Given the description of an element on the screen output the (x, y) to click on. 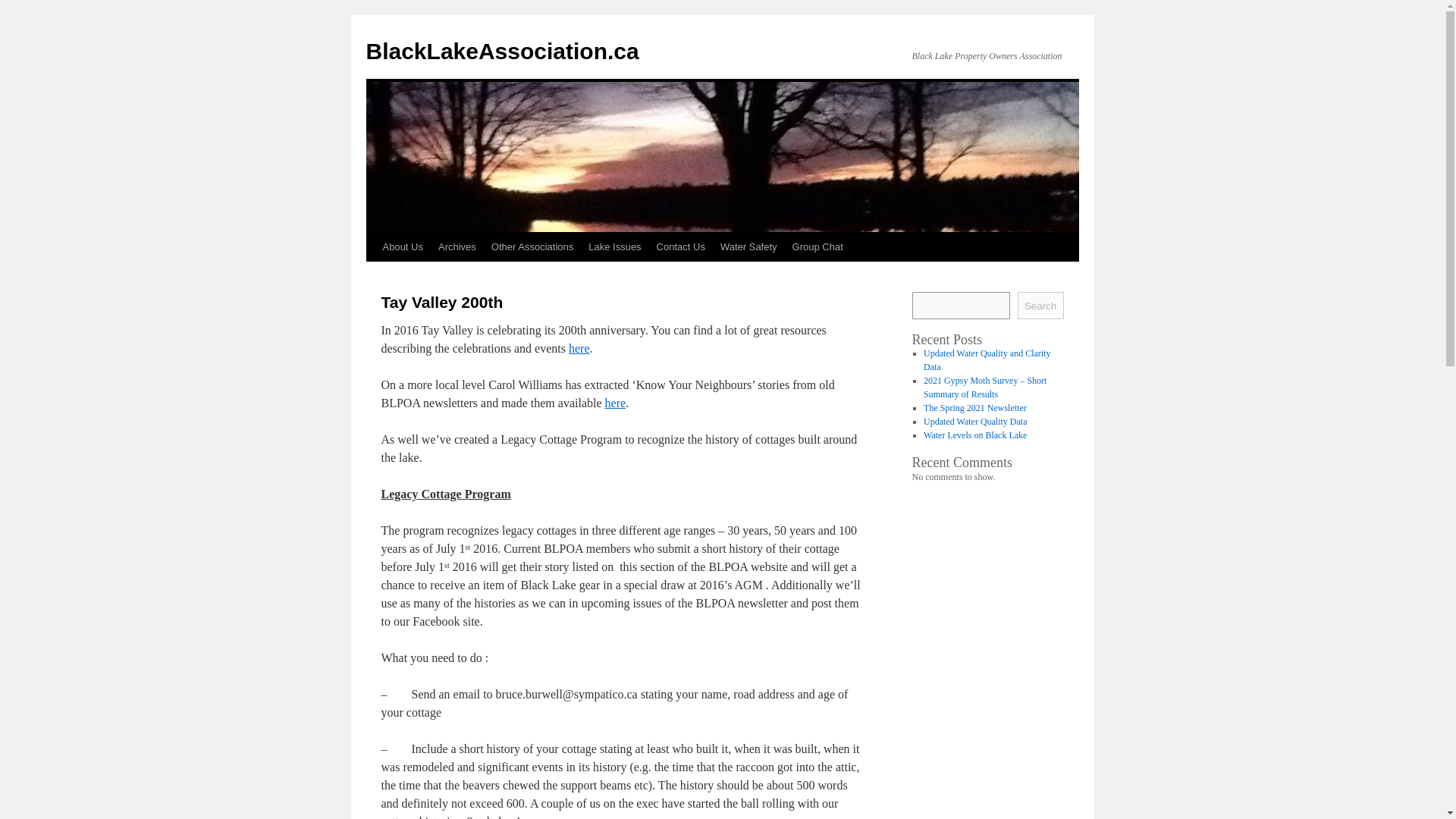
Lake Issues (613, 246)
Updated Water Quality Data (974, 421)
Water Safety (748, 246)
Updated Water Quality and Clarity Data (986, 360)
The Spring 2021 Newsletter (974, 407)
Group Chat (817, 246)
here (579, 348)
Water Levels on Black Lake (974, 434)
About Us (401, 246)
here (615, 402)
